Given the description of an element on the screen output the (x, y) to click on. 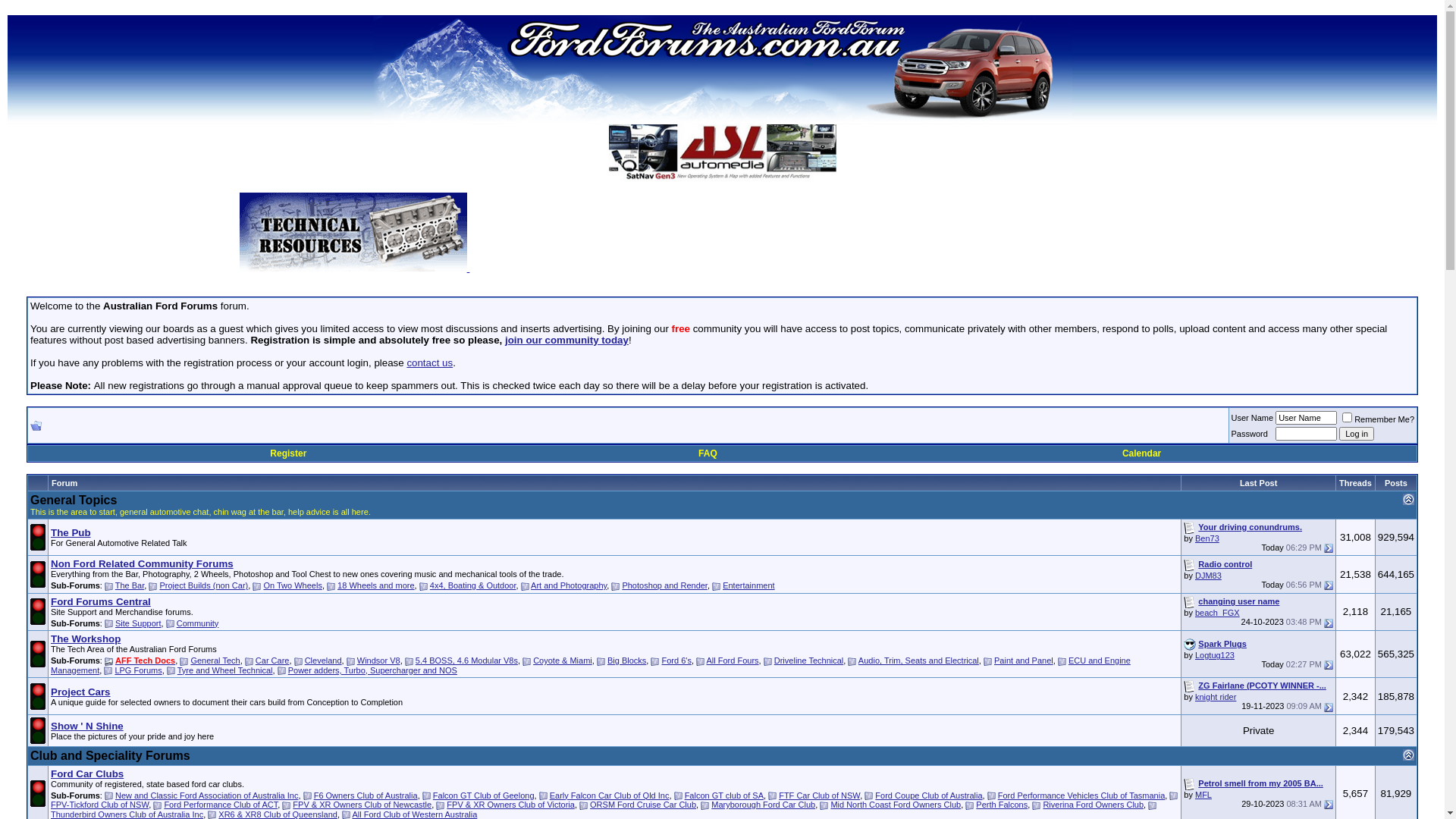
Advertisement Element type: hover (836, 237)
Non Ford Related Community Forums Element type: text (141, 563)
Tyre and Wheel Technical Element type: text (225, 669)
Go to last post Element type: hover (1328, 707)
Go to last post Element type: hover (1328, 622)
Calendar Element type: text (1141, 453)
ORSM Ford Cruise Car Club Element type: text (642, 804)
The Pub Element type: text (70, 532)
ZG Fairlane (PCOTY WINNER -... Element type: text (1261, 685)
Cleveland Element type: text (323, 660)
Windsor V8 Element type: text (378, 660)
Logtug123 Element type: text (1214, 654)
F6 Owners Club of Australia Element type: text (365, 795)
beach_FGX Element type: text (1217, 612)
Petrol smell from my 2005 BA... Element type: text (1260, 782)
Ben73 Element type: text (1207, 537)
MFL Element type: text (1203, 794)
Early Falcon Car Club of Qld Inc Element type: text (609, 795)
New and Classic Ford Association of Australia Inc Element type: text (206, 795)
All Ford Fours Element type: text (732, 660)
The Bar Element type: text (129, 584)
Ford 6's Element type: text (676, 660)
Go to last post Element type: hover (1328, 584)
Entertainment Element type: text (748, 584)
changing user name Element type: text (1238, 600)
LPG Forums Element type: text (137, 669)
ASL Element type: hover (721, 152)
Cool Element type: hover (1189, 644)
Paint and Panel Element type: text (1023, 660)
Radio control Element type: text (1225, 563)
Photoshop and Render Element type: text (664, 584)
Car Care Element type: text (272, 660)
Audio, Trim, Seats and Electrical Element type: text (918, 660)
Site Support Element type: text (138, 622)
knight rider Element type: text (1215, 696)
The Workshop Element type: text (85, 638)
Driveline Technical Element type: text (809, 660)
join our community today Element type: text (566, 339)
18 Wheels and more Element type: text (375, 584)
Log in Element type: text (1356, 433)
Power adders, Turbo, Supercharger and NOS Element type: text (372, 669)
5.4 BOSS, 4.6 Modular V8s Element type: text (466, 660)
Ford Car Clubs Element type: text (86, 773)
Spark Plugs Element type: text (1222, 643)
Ford Forums Central Element type: text (100, 601)
Show ' N Shine Element type: text (86, 725)
Community Element type: text (197, 622)
Riverina Ford Owners Club Element type: text (1092, 804)
Big Blocks Element type: text (626, 660)
FPV & XR Owners Club of Newcastle Element type: text (361, 804)
FPV-Tickford Club of NSW Element type: text (99, 804)
Falcon GT Club of Geelong Element type: text (483, 795)
4x4, Boating & Outdoor Element type: text (472, 584)
contact us Element type: text (429, 362)
Go to last post Element type: hover (1328, 664)
FPV & XR Owners Club of Victoria Element type: text (510, 804)
AFF Tech Docs Element type: text (145, 660)
Go to last post Element type: hover (1328, 547)
General Tech Element type: text (214, 660)
DJM83 Element type: text (1208, 575)
Project Cars Element type: text (80, 691)
Go to last post Element type: hover (1328, 804)
Your driving conundrums. Element type: text (1250, 526)
Maryborough Ford Car Club Element type: text (763, 804)
Perth Falcons Element type: text (1001, 804)
Register Element type: text (287, 453)
Ford Coupe Club of Australia Element type: text (928, 795)
Ford Performance Club of ACT Element type: text (220, 804)
Coyote & Miami Element type: text (562, 660)
FAQ Element type: text (707, 453)
Mid North Coast Ford Owners Club Element type: text (895, 804)
Club and Speciality Forums Element type: text (110, 755)
Art and Photography Element type: text (568, 584)
Ford Performance Vehicles Club of Tasmania Element type: text (1081, 795)
FTF Car Club of NSW Element type: text (818, 795)
ECU and Engine Management Element type: text (590, 664)
Project Builds (non Car) Element type: text (203, 584)
General Topics Element type: text (73, 499)
On Two Wheels Element type: text (292, 584)
Falcon GT club of SA Element type: text (723, 795)
